Given the description of an element on the screen output the (x, y) to click on. 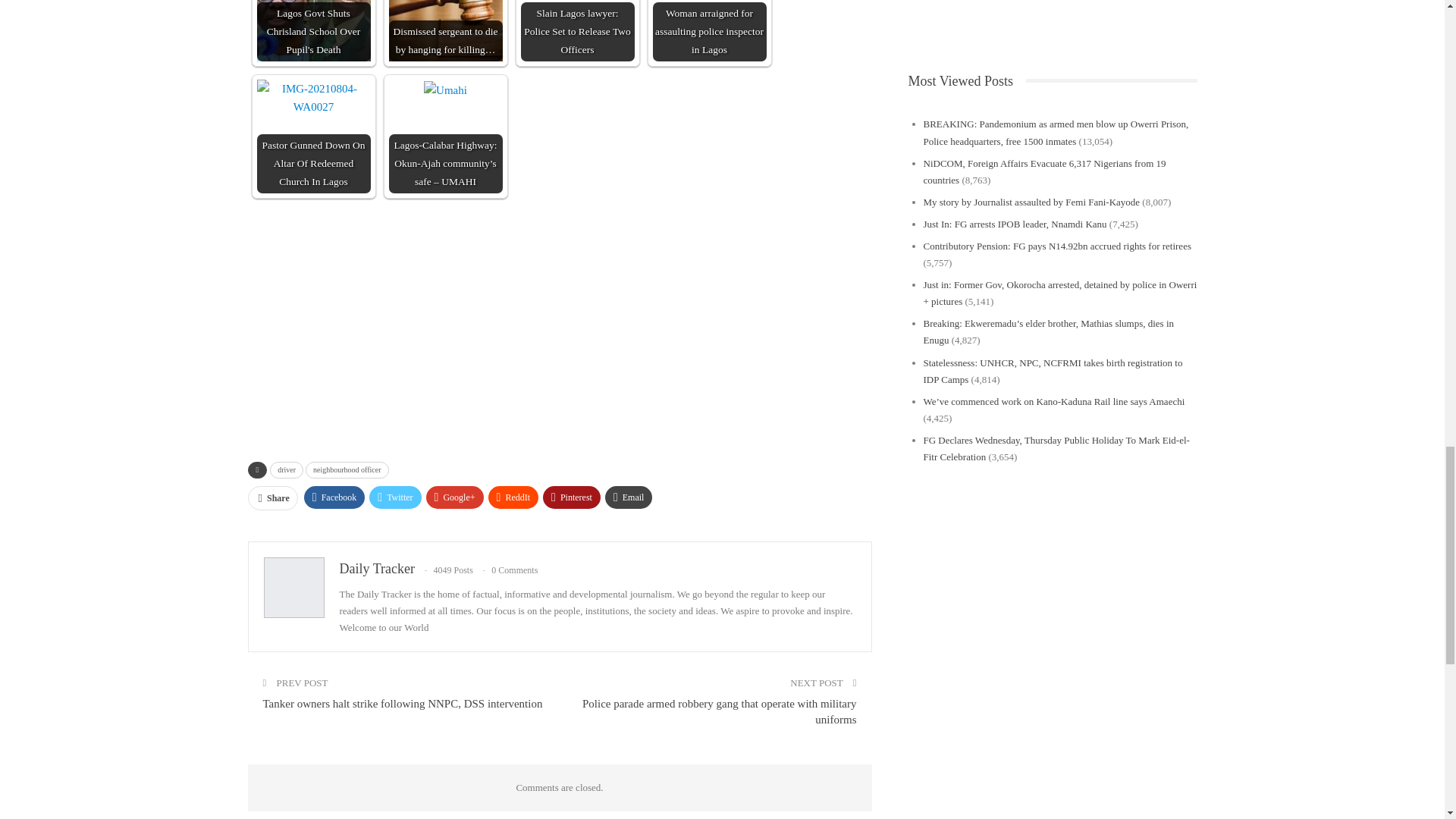
Lagos Govt Shuts Chrisland School Over Pupil's Death (312, 30)
Pastor Gunned Down On Altar Of Redeemed Church In Lagos (312, 97)
